Given the description of an element on the screen output the (x, y) to click on. 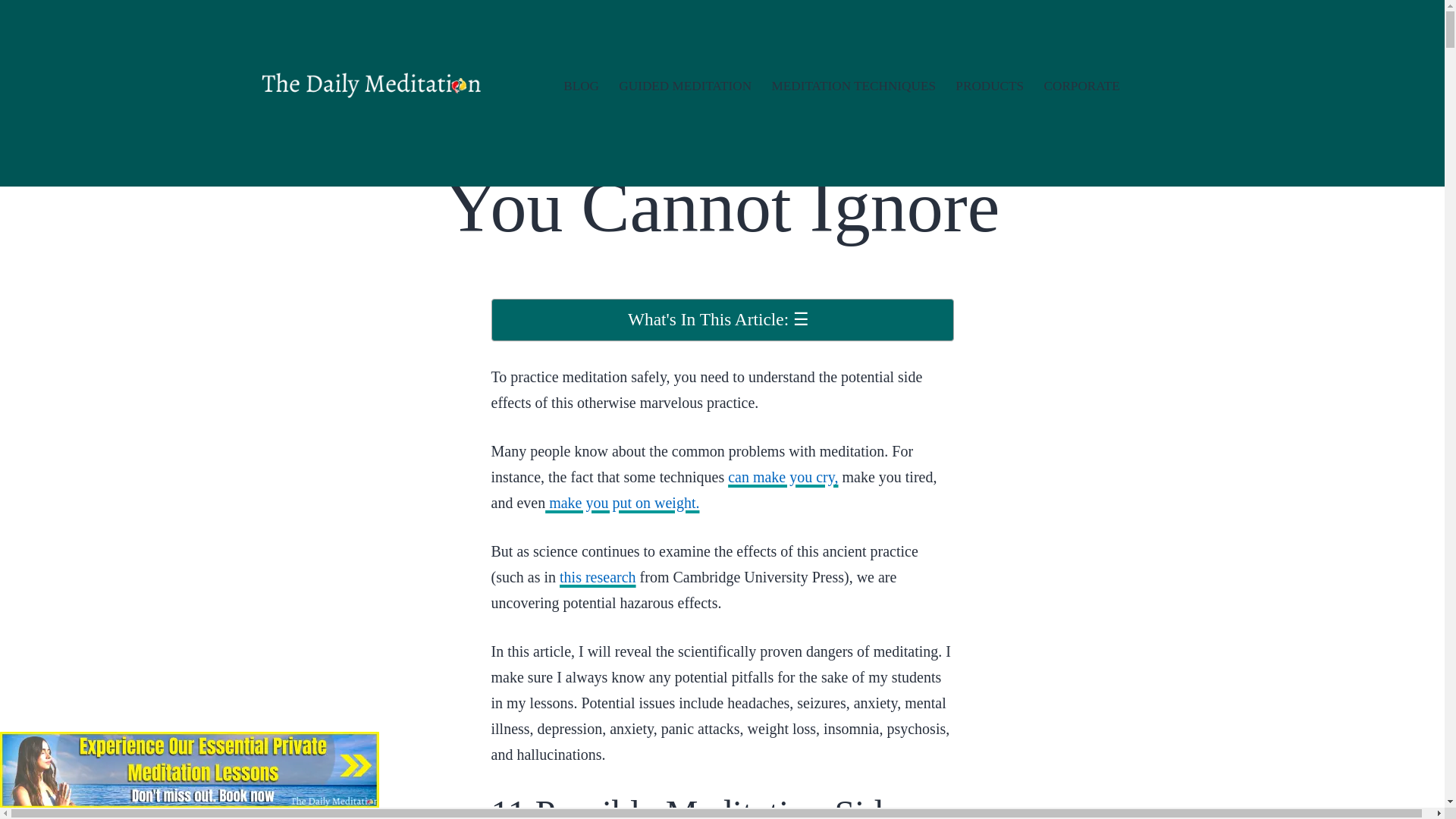
can make you cry, (783, 476)
PRODUCTS (988, 86)
GUIDED MEDITATION (684, 86)
BLOG (580, 86)
CORPORATE (1081, 86)
MEDITATION TECHNIQUES (852, 86)
 make you put on weight. (621, 502)
this research (597, 576)
